Given the description of an element on the screen output the (x, y) to click on. 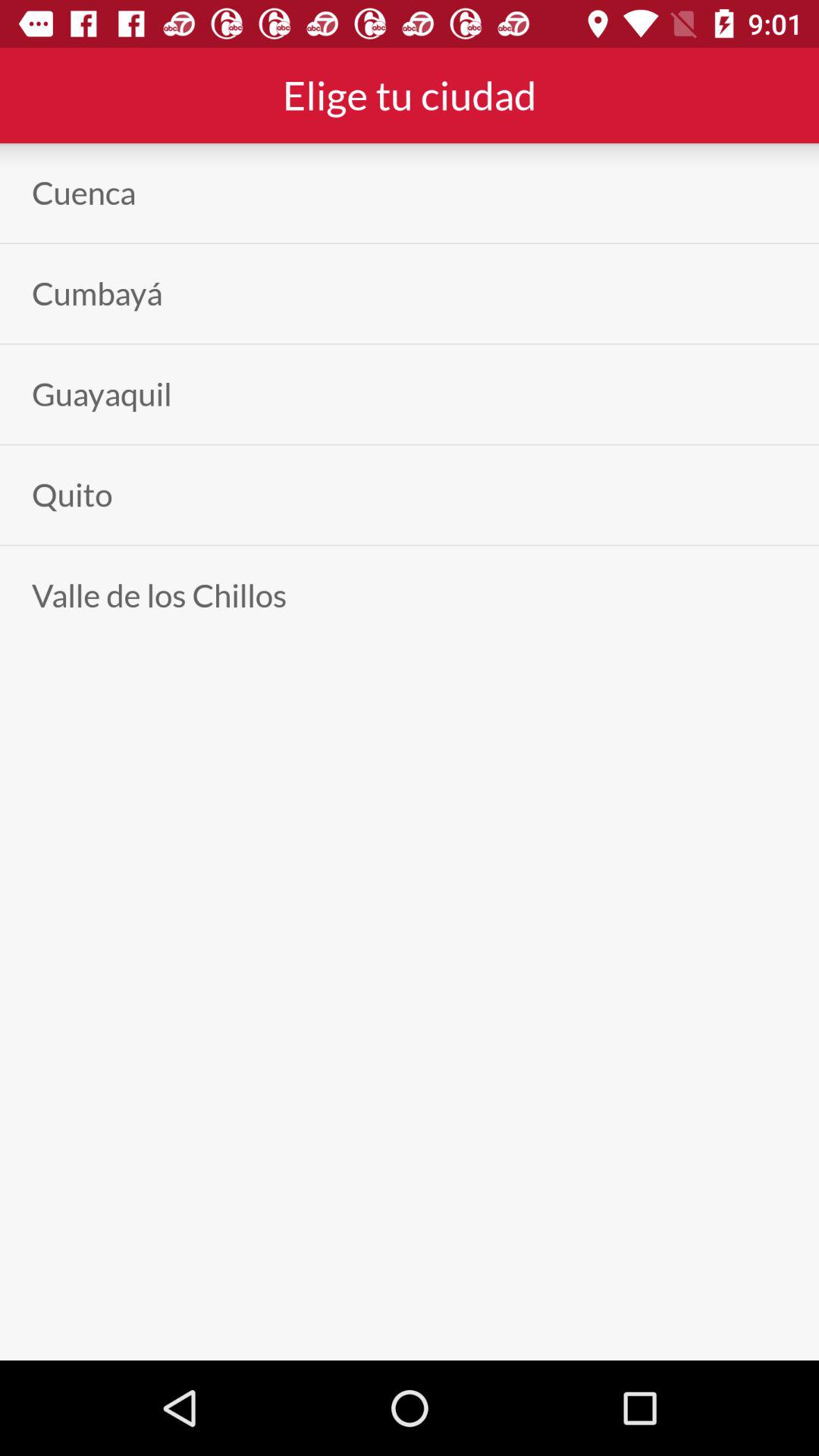
swipe until the quito (71, 495)
